Given the description of an element on the screen output the (x, y) to click on. 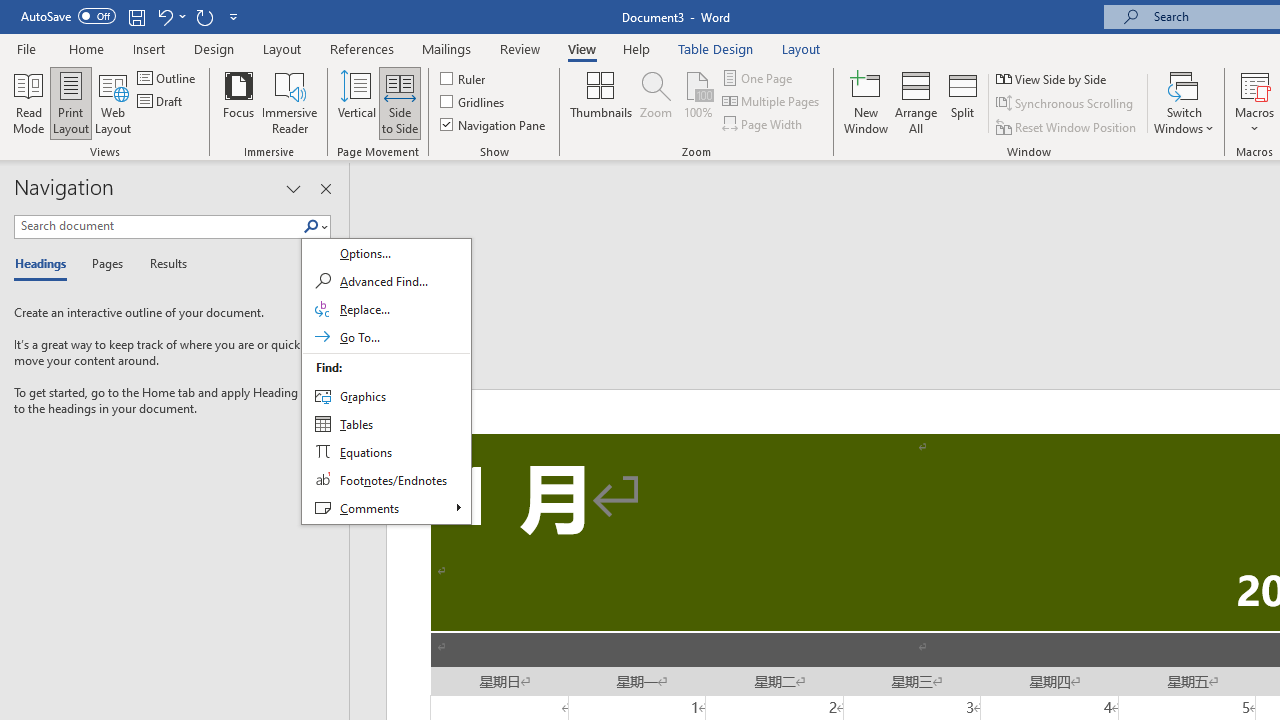
New Window (866, 102)
Web Layout (113, 102)
View Macros (1254, 84)
Task Pane Options (293, 188)
Draft (161, 101)
File Tab (26, 48)
Immersive Reader (289, 102)
Synchronous Scrolling (1066, 103)
Results (161, 264)
Pages (105, 264)
Navigation Pane (493, 124)
Insert (149, 48)
Design (214, 48)
Undo Increase Indent (164, 15)
Review (520, 48)
